Given the description of an element on the screen output the (x, y) to click on. 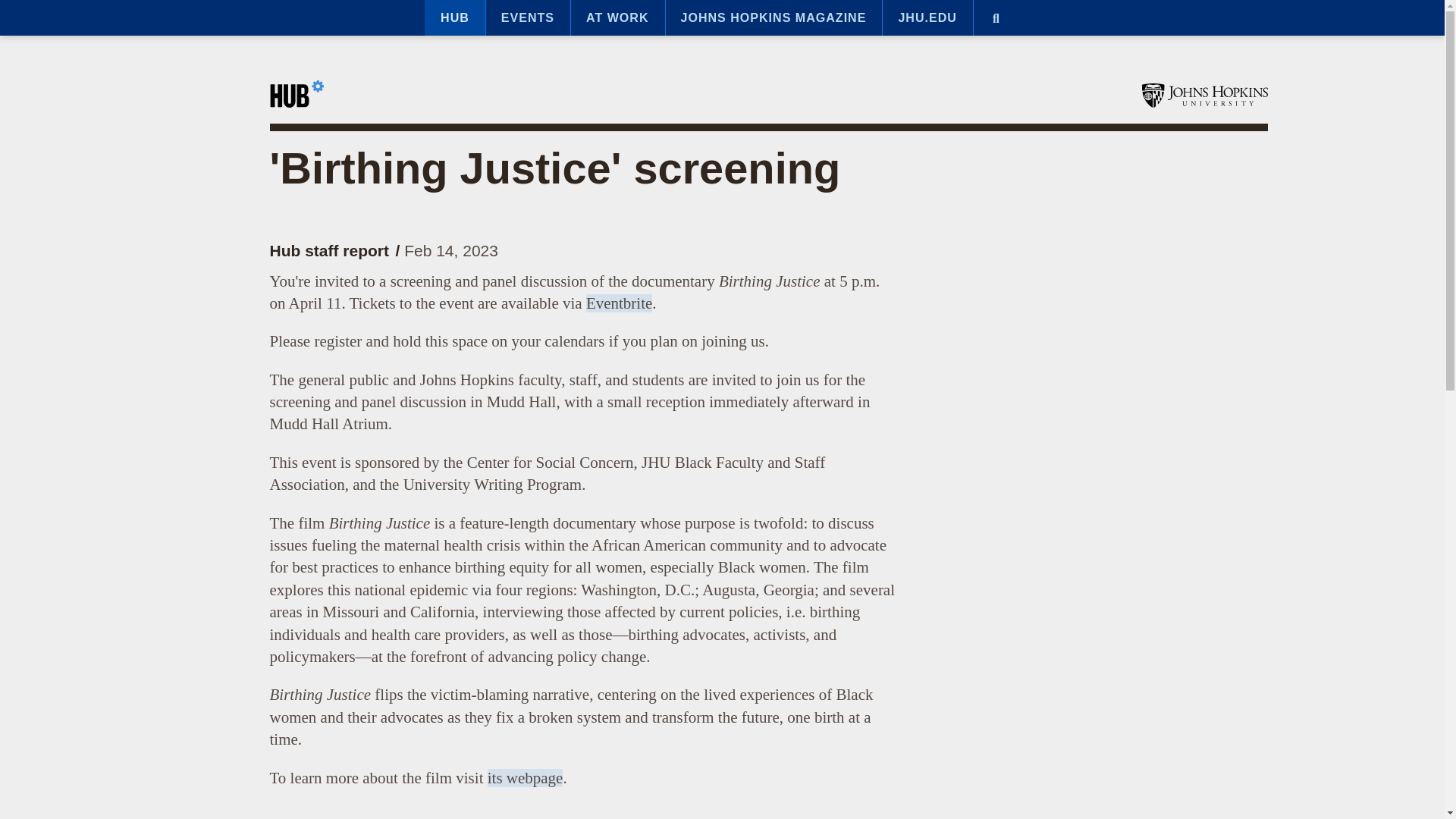
JHU.EDU (927, 18)
EVENTS (527, 18)
JOHNS HOPKINS MAGAZINE (773, 18)
Johns Hopkins University (1204, 95)
Eventbrite (619, 303)
AT WORK (616, 18)
HUB (454, 18)
